Given the description of an element on the screen output the (x, y) to click on. 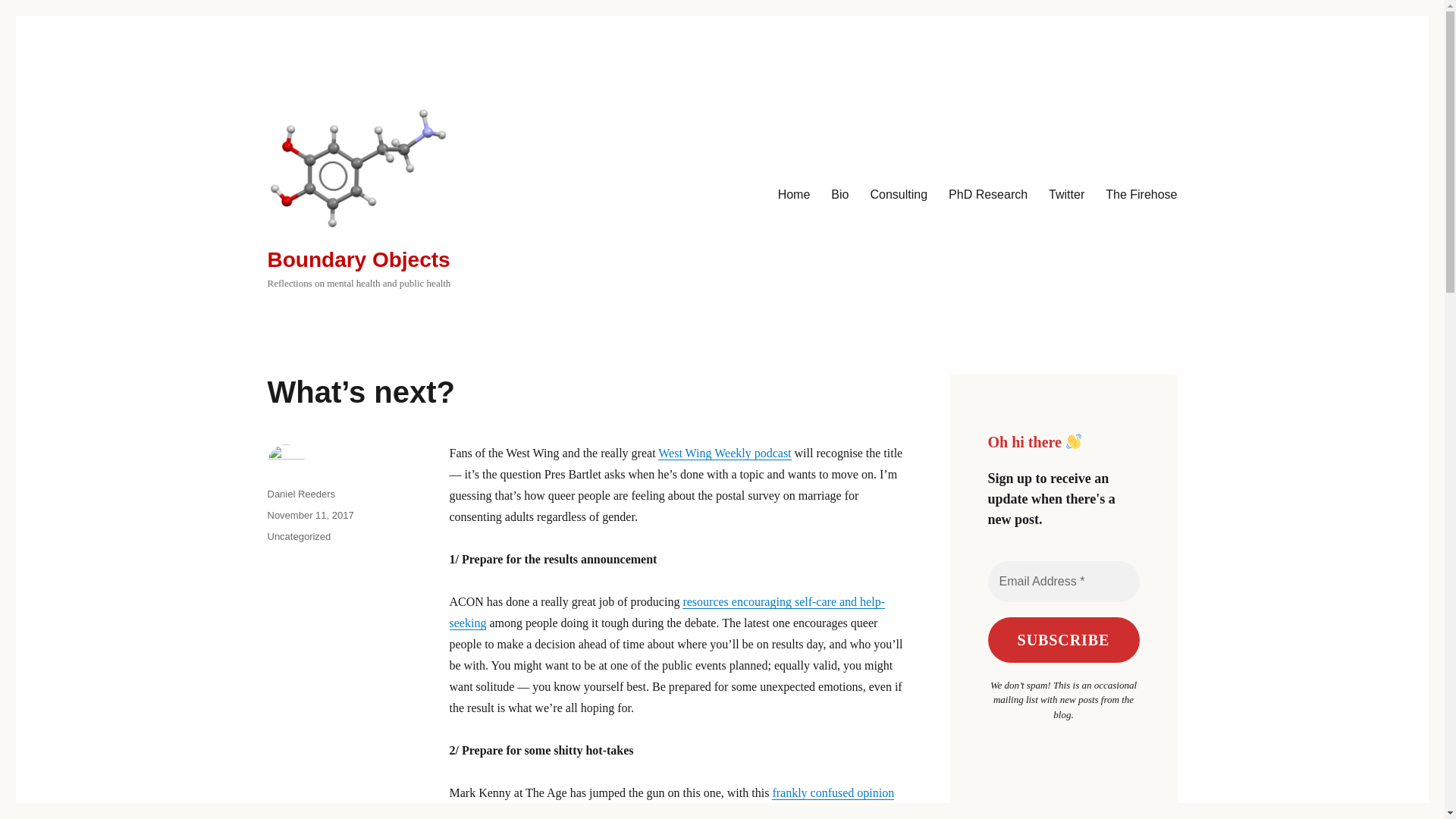
Bio (840, 194)
Home (794, 194)
The Firehose (1141, 194)
resources encouraging self-care and help-seeking (665, 612)
Twitter (1066, 194)
Email Address (1062, 581)
Consulting (898, 194)
frankly confused opinion piece (670, 802)
November 11, 2017 (309, 514)
